Given the description of an element on the screen output the (x, y) to click on. 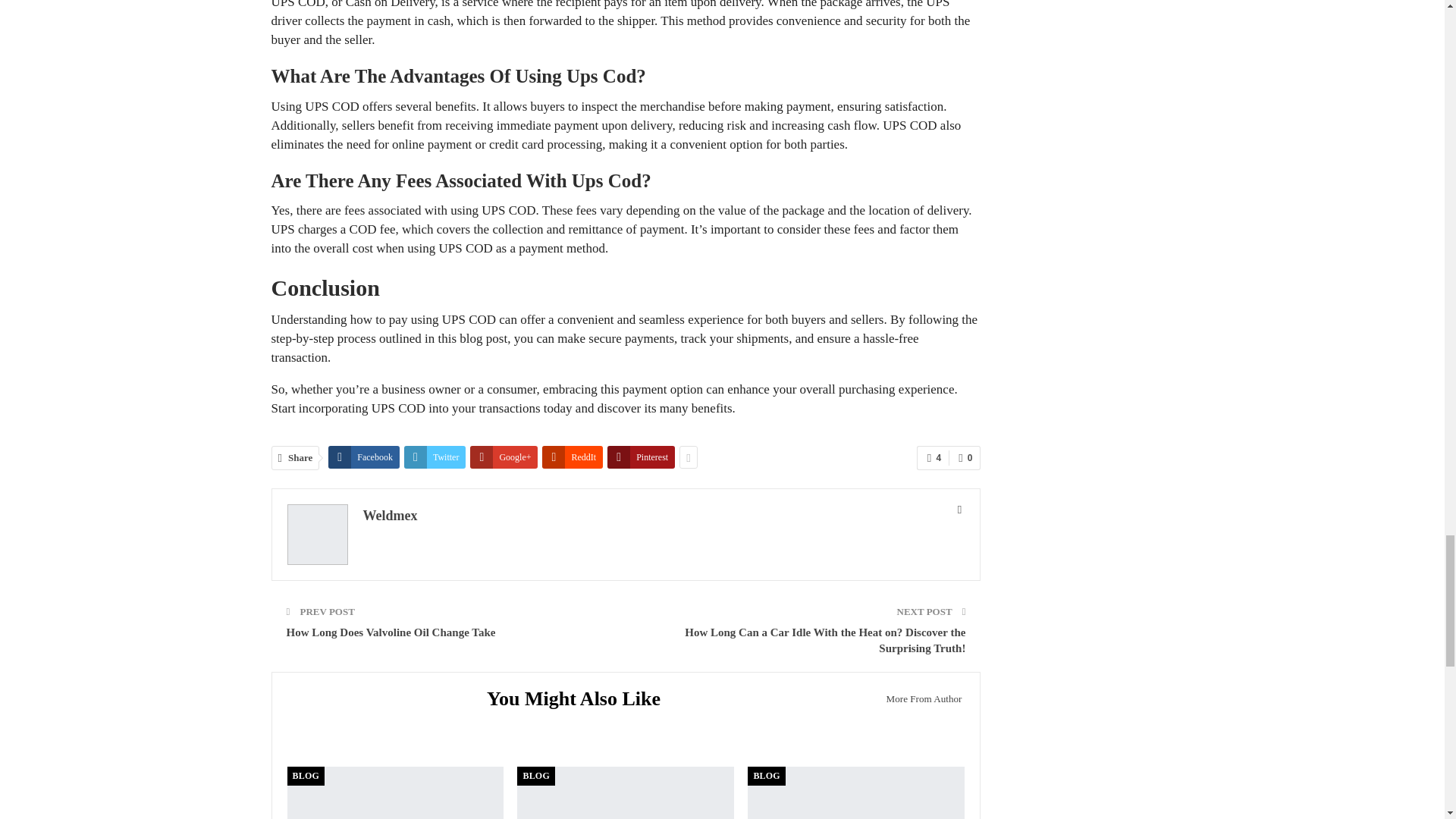
Facebook (363, 456)
More From Author (919, 698)
How Long Does Valvoline Oil Change Take (391, 632)
How to Fix an Overcharged Battery (624, 792)
You Might Also Like (579, 700)
Pinterest (641, 456)
Twitter (434, 456)
How to Fill Air in a Tire (855, 792)
ReddIt (571, 456)
0 (964, 457)
BLOG (304, 775)
Weldmex (389, 515)
How to Clean Connectors (394, 792)
